Given the description of an element on the screen output the (x, y) to click on. 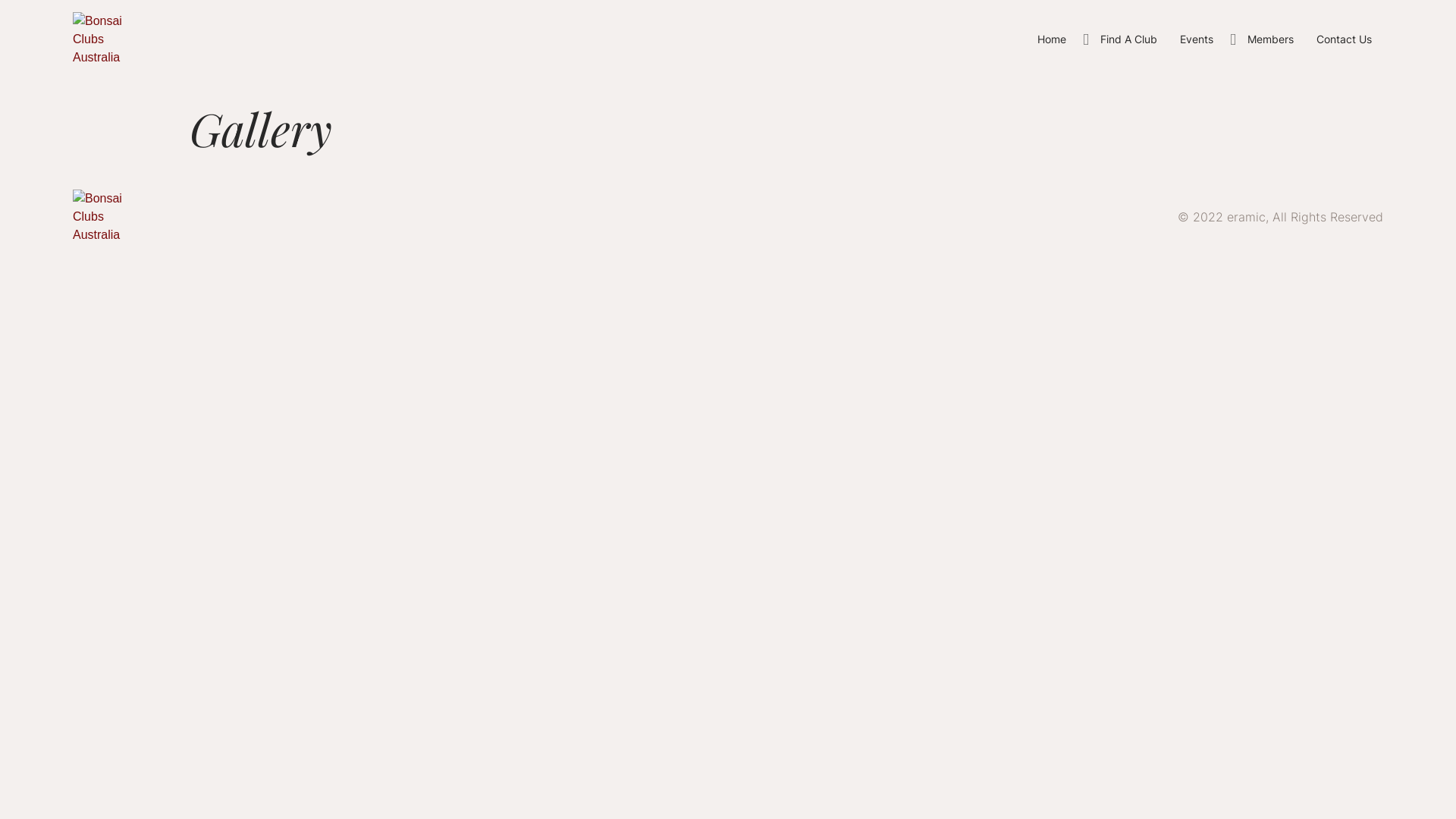
Find A Club Element type: text (1128, 39)
Members Element type: text (1270, 39)
Events Element type: text (1196, 39)
Home Element type: text (1051, 39)
Contact Us Element type: text (1344, 39)
